Given the description of an element on the screen output the (x, y) to click on. 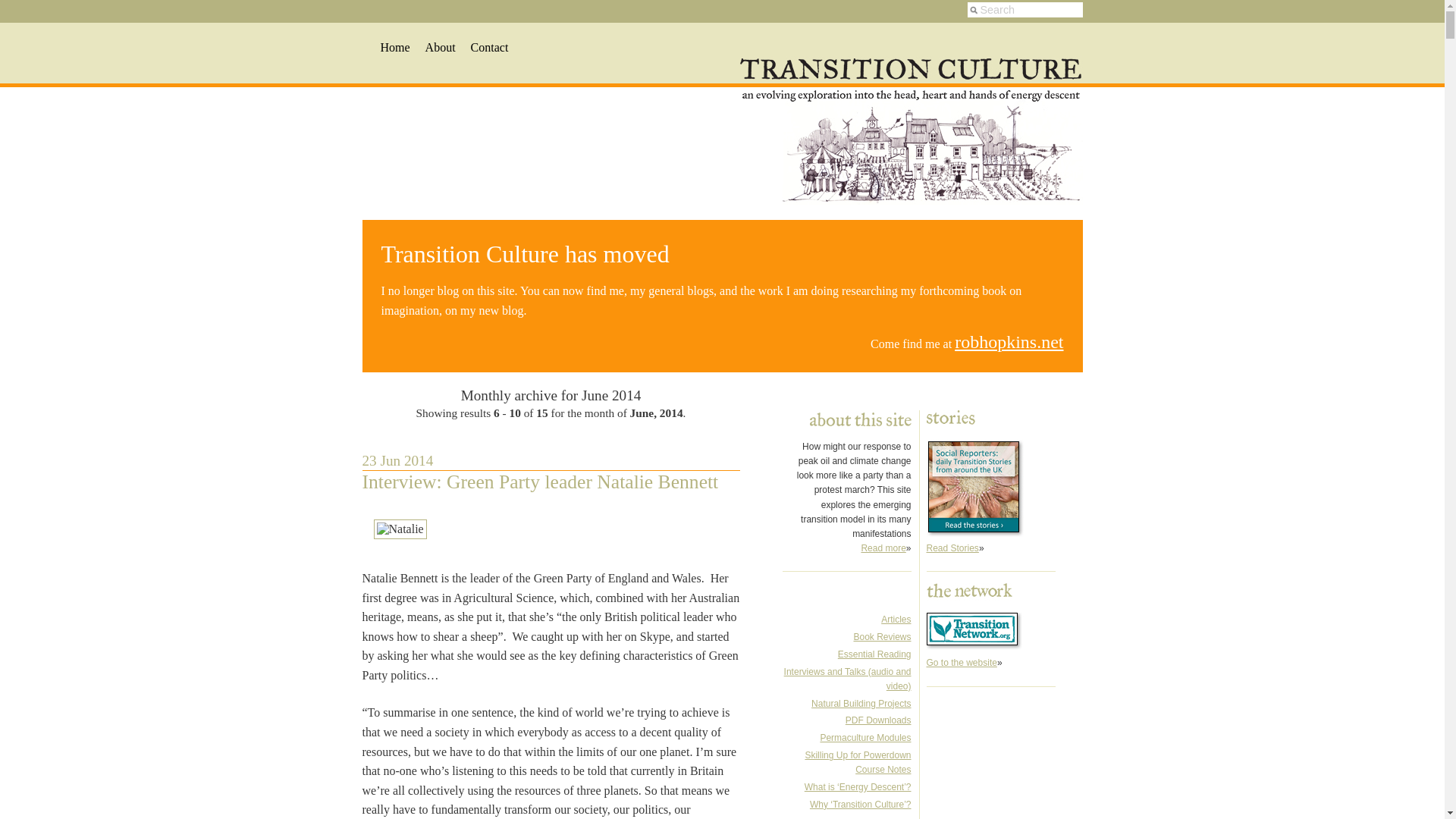
Contact (489, 47)
Search (1025, 9)
Natalie (399, 528)
Home (395, 47)
robhopkins.net (1008, 342)
Contact the Author (489, 47)
enter your search phrase then press Enter (1025, 9)
About the Author (440, 47)
About (440, 47)
Permalink to: Interview: Green Party leader Natalie Bennett (540, 481)
Transition Culture Home Page (395, 47)
Interview: Green Party leader Natalie Bennett (540, 481)
